Given the description of an element on the screen output the (x, y) to click on. 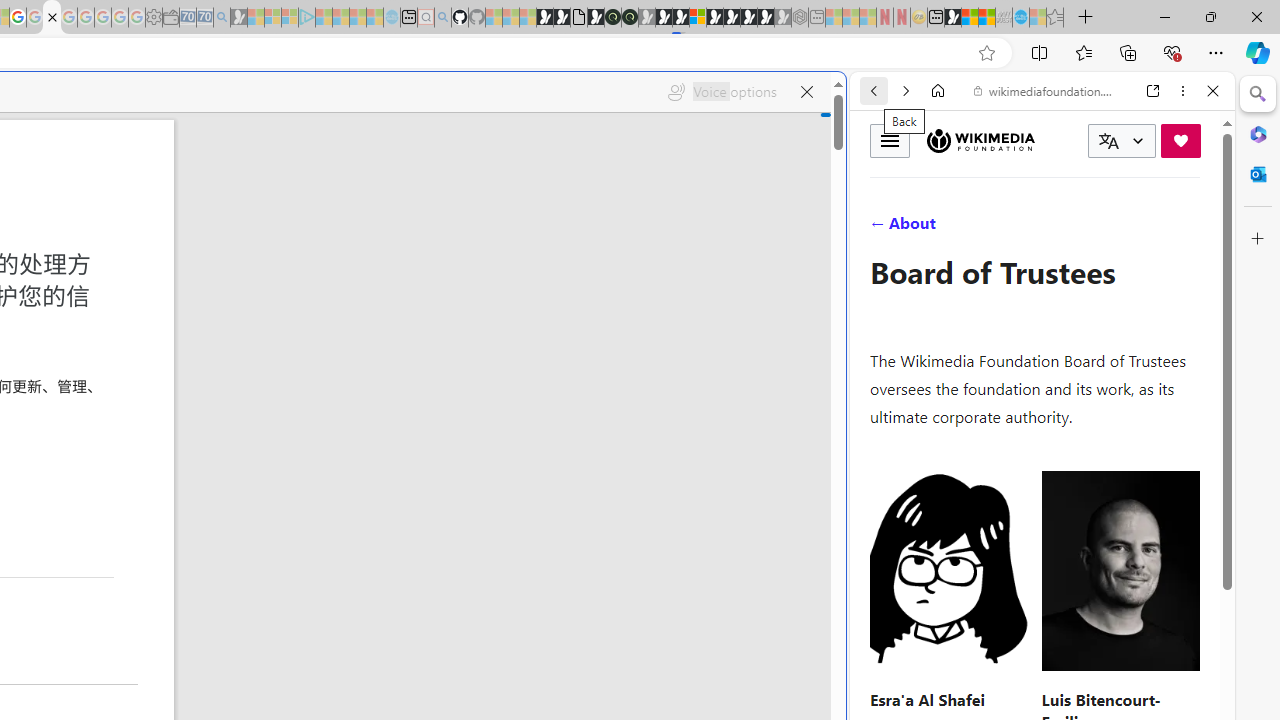
Services - Maintenance | Sky Blue Bikes - Sky Blue Bikes (1020, 17)
Class: i icon icon-translate language-switcher__icon (1108, 141)
